Given the description of an element on the screen output the (x, y) to click on. 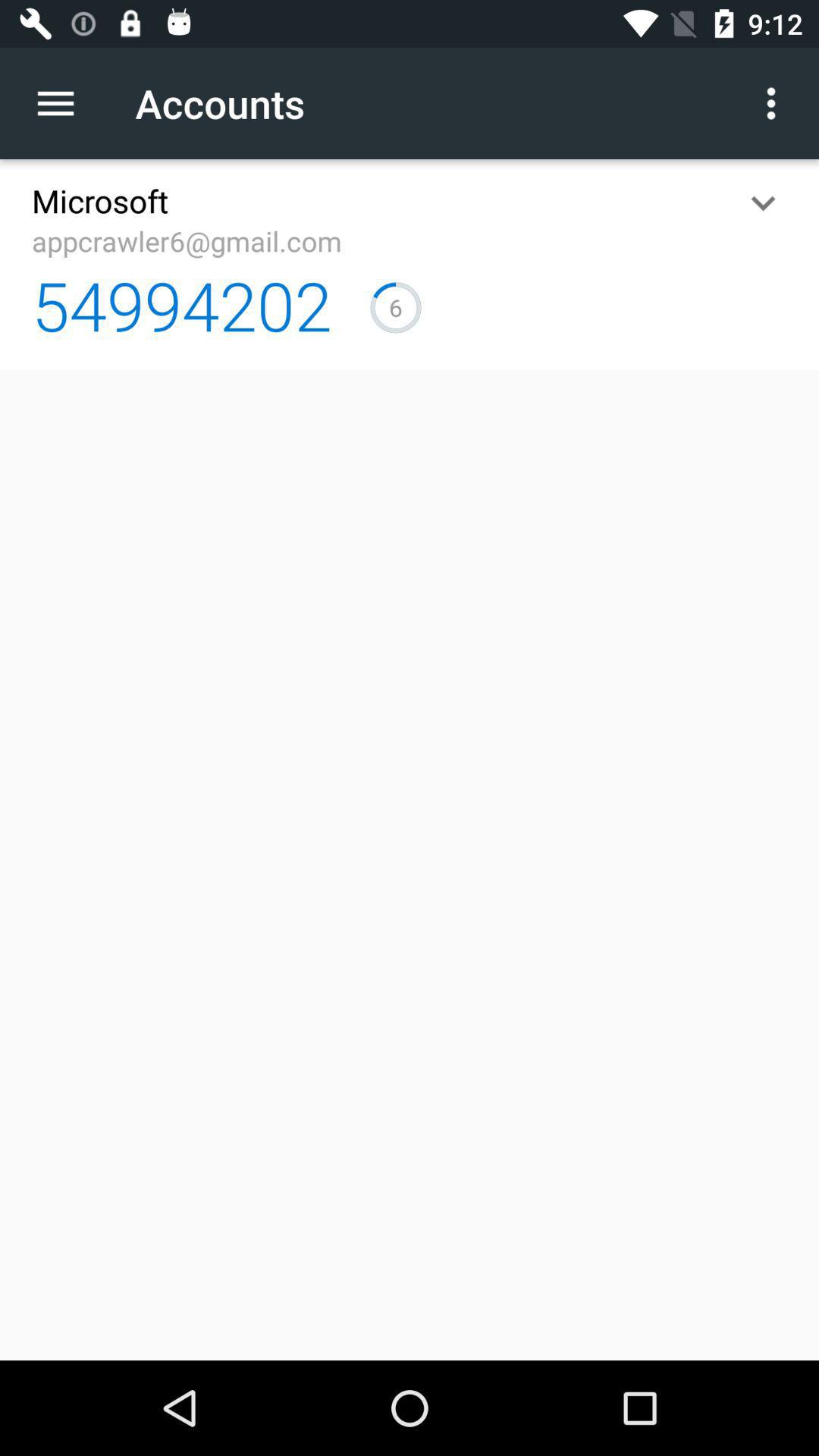
swipe until appcrawler6@gmail.com icon (186, 240)
